Given the description of an element on the screen output the (x, y) to click on. 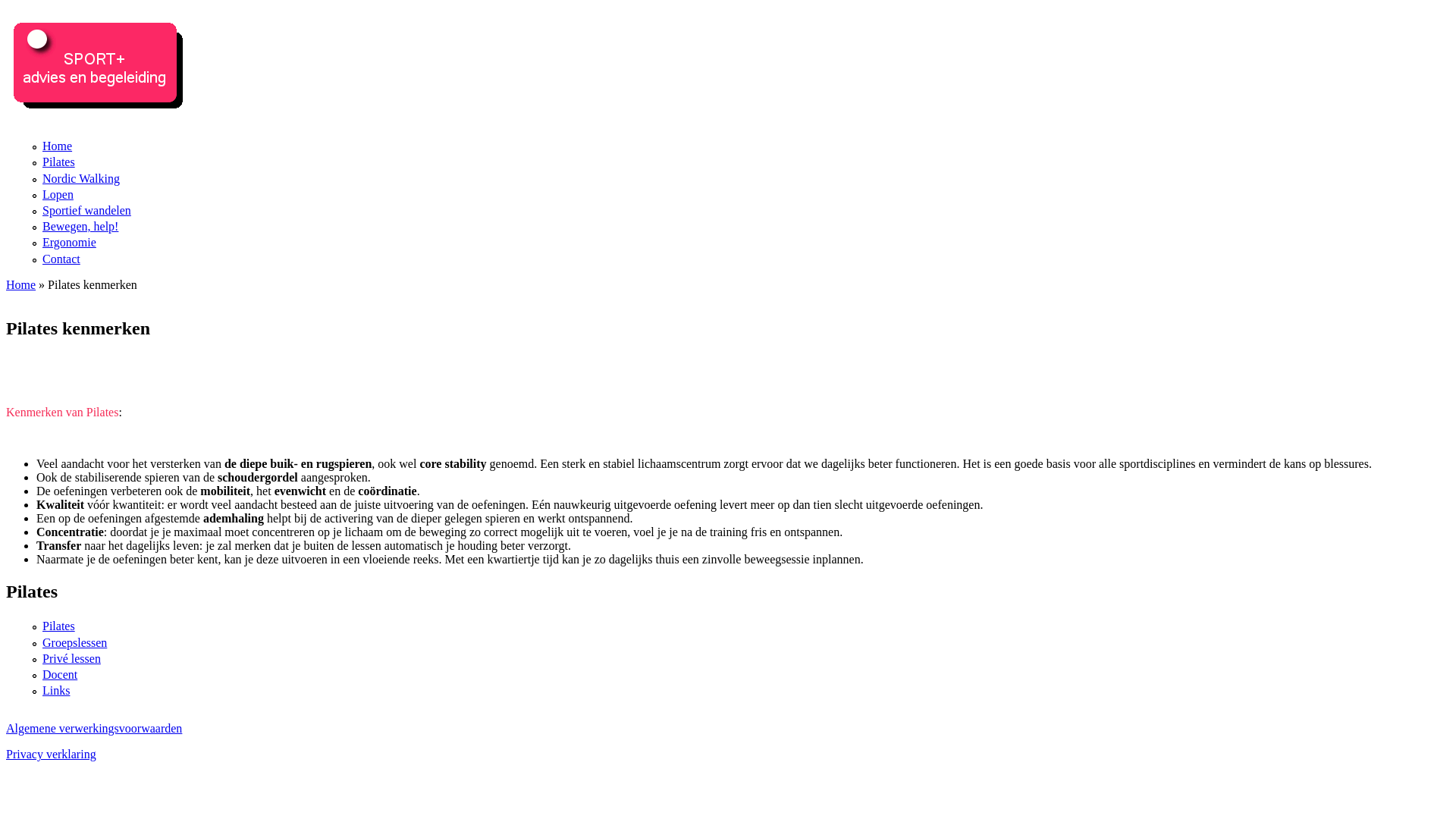
Home Element type: text (57, 145)
Algemene verwerkingsvoorwaarden Element type: text (94, 727)
Contact Element type: text (61, 257)
Docent Element type: text (59, 674)
Home Element type: text (20, 283)
Pilates Element type: text (58, 161)
Bewegen, help! Element type: text (80, 225)
Privacy verklaring Element type: text (51, 753)
Ergonomie Element type: text (69, 241)
Pilates Element type: text (58, 625)
Groepslessen Element type: text (74, 641)
Lopen Element type: text (57, 194)
Sportief wandelen Element type: text (86, 209)
Nordic Walking Element type: text (80, 178)
Links Element type: text (55, 690)
Home Element type: hover (101, 117)
